Given the description of an element on the screen output the (x, y) to click on. 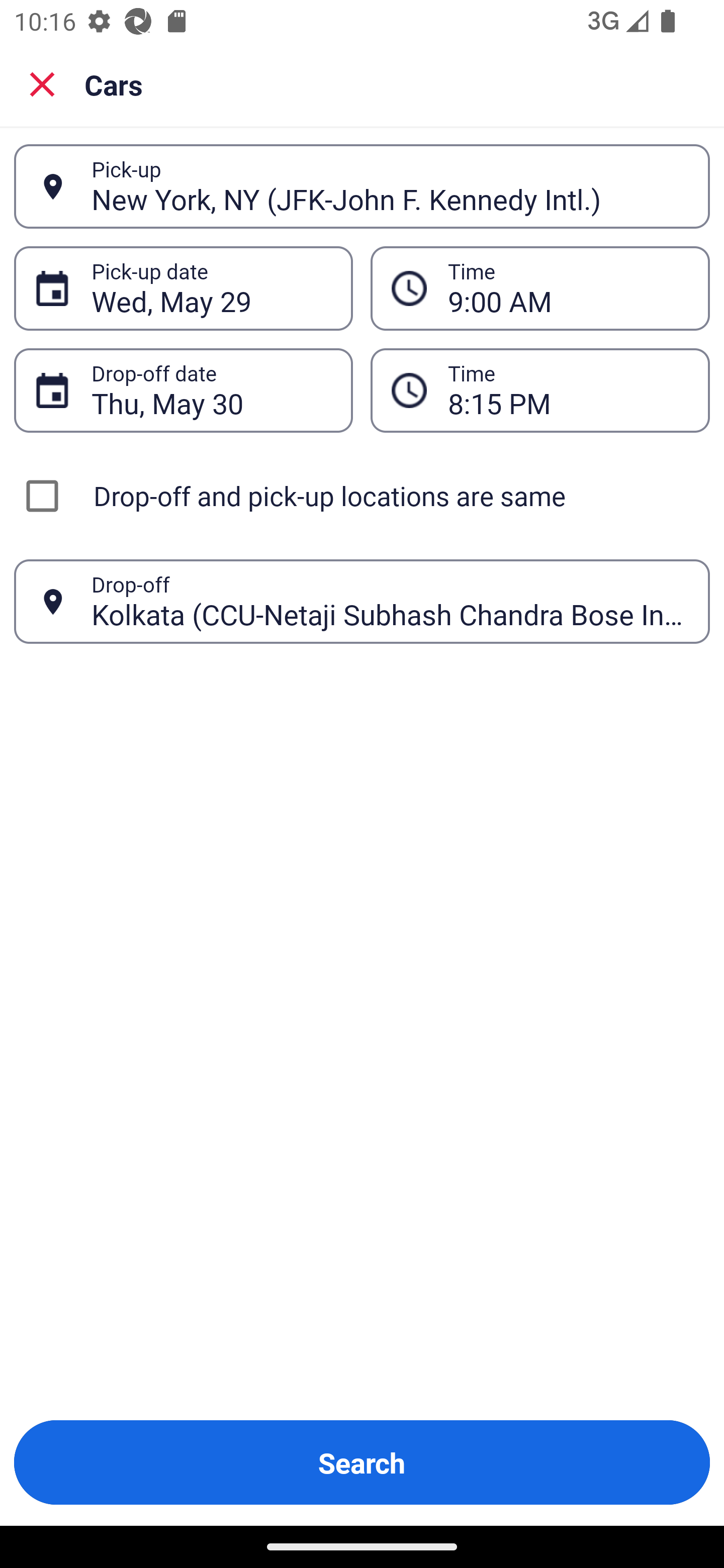
Close search screen (41, 83)
New York, NY (JFK-John F. Kennedy Intl.) Pick-up (361, 186)
New York, NY (JFK-John F. Kennedy Intl.) (389, 186)
Wed, May 29 Pick-up date (183, 288)
9:00 AM (540, 288)
Wed, May 29 (211, 288)
9:00 AM (568, 288)
Thu, May 30 Drop-off date (183, 390)
8:15 PM (540, 390)
Thu, May 30 (211, 390)
8:15 PM (568, 390)
Drop-off and pick-up locations are same (361, 495)
Kolkata (CCU-Netaji Subhash Chandra Bose Intl.) (389, 601)
Search Button Search (361, 1462)
